Given the description of an element on the screen output the (x, y) to click on. 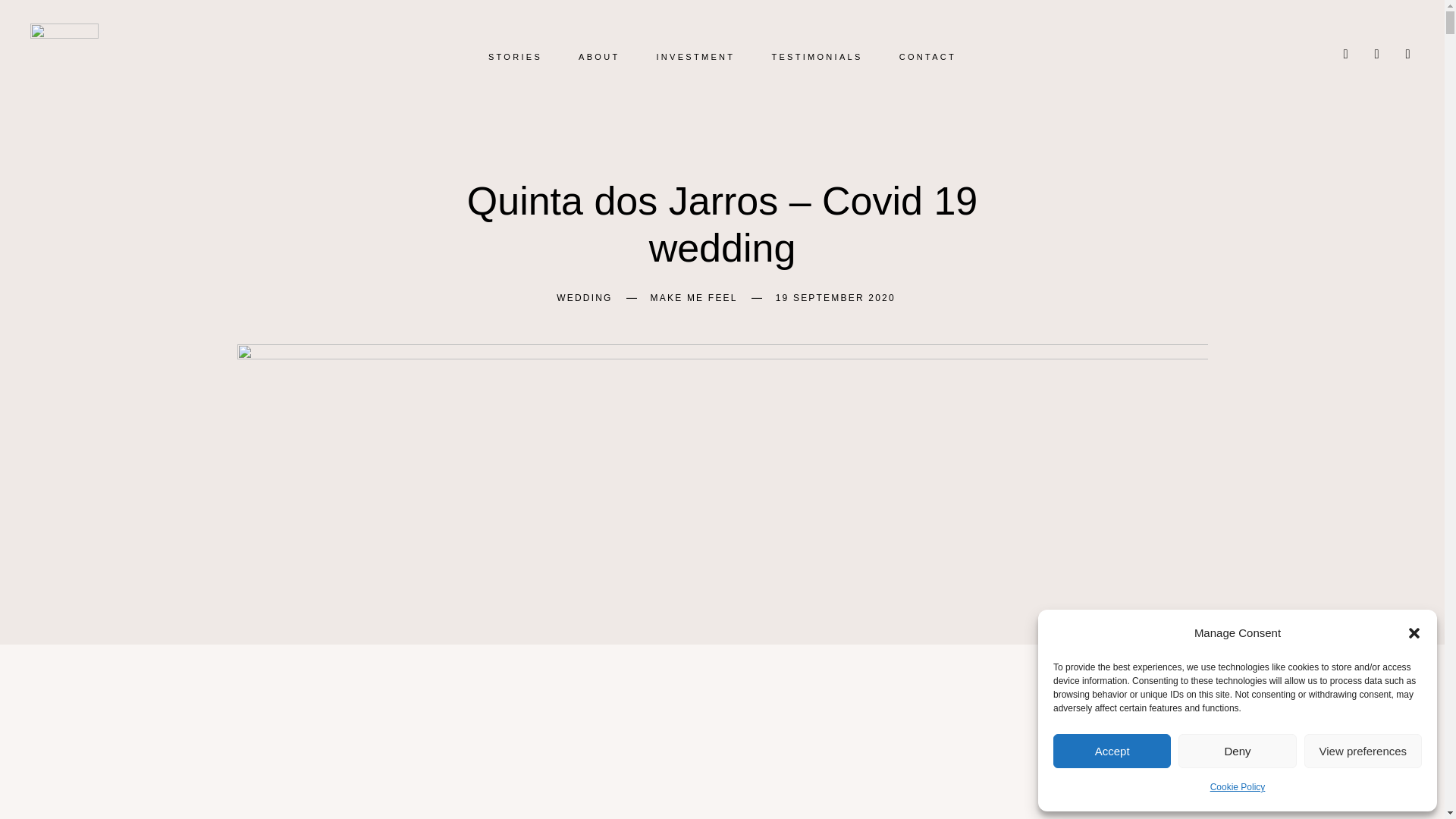
Cookie Policy (1237, 787)
STORIES (514, 56)
ABOUT (599, 56)
View preferences (1363, 750)
Accept (1111, 750)
INVESTMENT (695, 56)
CONTACT (927, 56)
Deny (1236, 750)
TESTIMONIALS (816, 56)
